Given the description of an element on the screen output the (x, y) to click on. 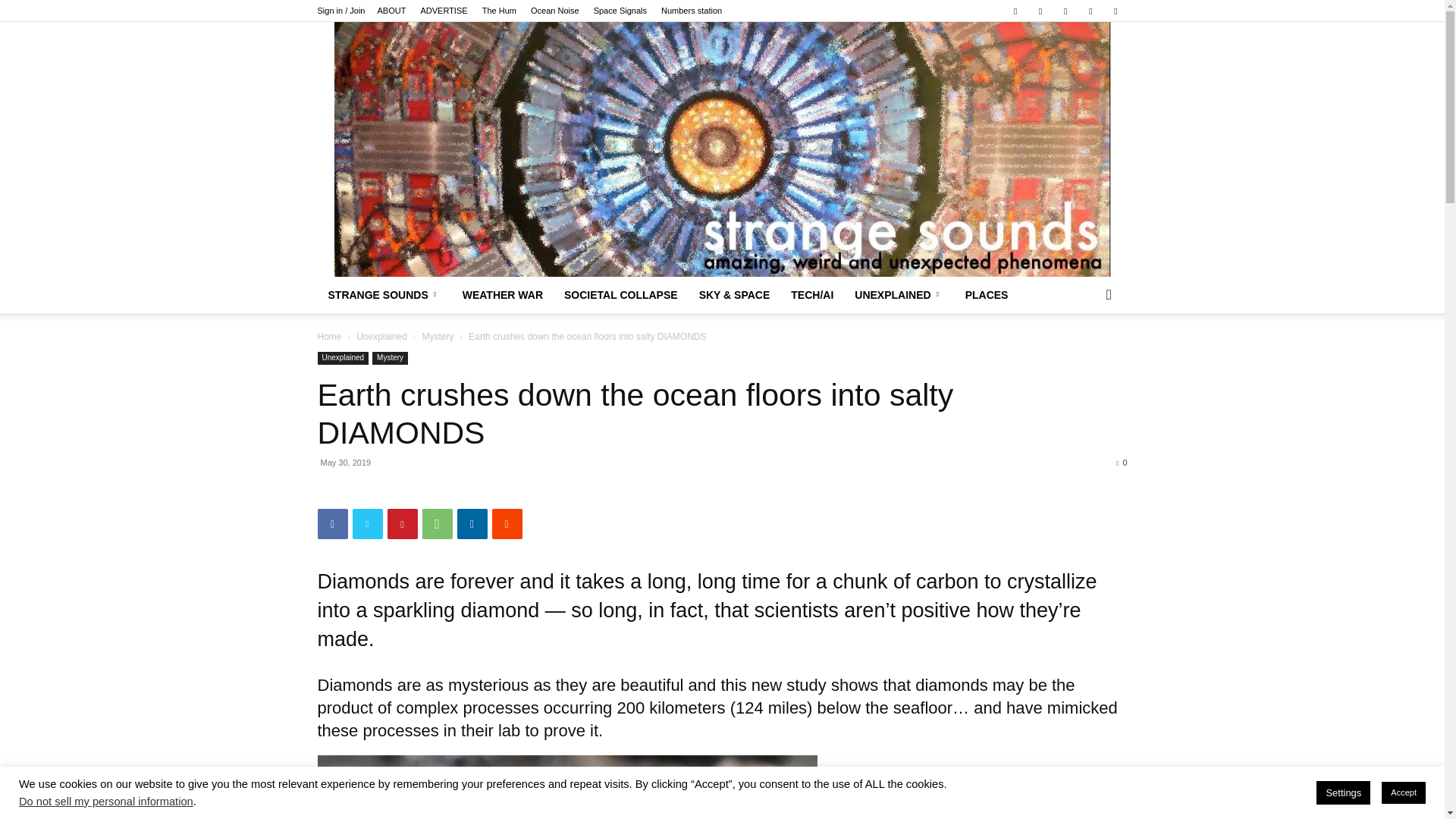
ADVERTISE (443, 10)
About Strange Sounds (391, 10)
Unexplained sounds of the deep ocean (555, 10)
Ocean Noise (555, 10)
The Hum (498, 10)
ABOUT (391, 10)
RSS (1065, 10)
The Hum mysterious phenomenon (498, 10)
Youtube (1114, 10)
Facebook (1015, 10)
ADVERTISE ON STRANGE SOUNDS (443, 10)
Twitter (1090, 10)
Numbers station (691, 10)
